Given the description of an element on the screen output the (x, y) to click on. 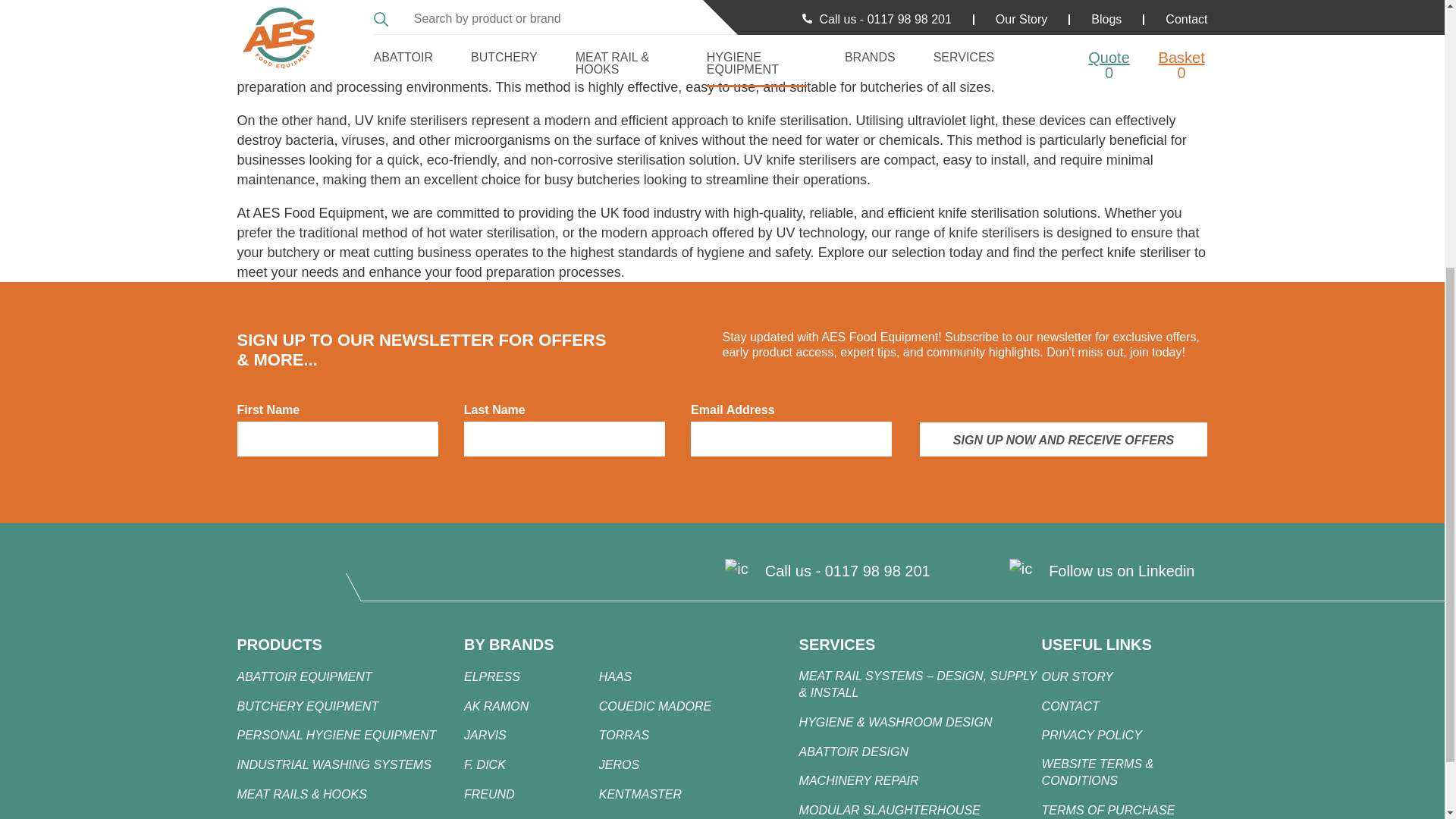
0117 98 98 201 (877, 570)
Follow us on Linkedin (1120, 570)
